Given the description of an element on the screen output the (x, y) to click on. 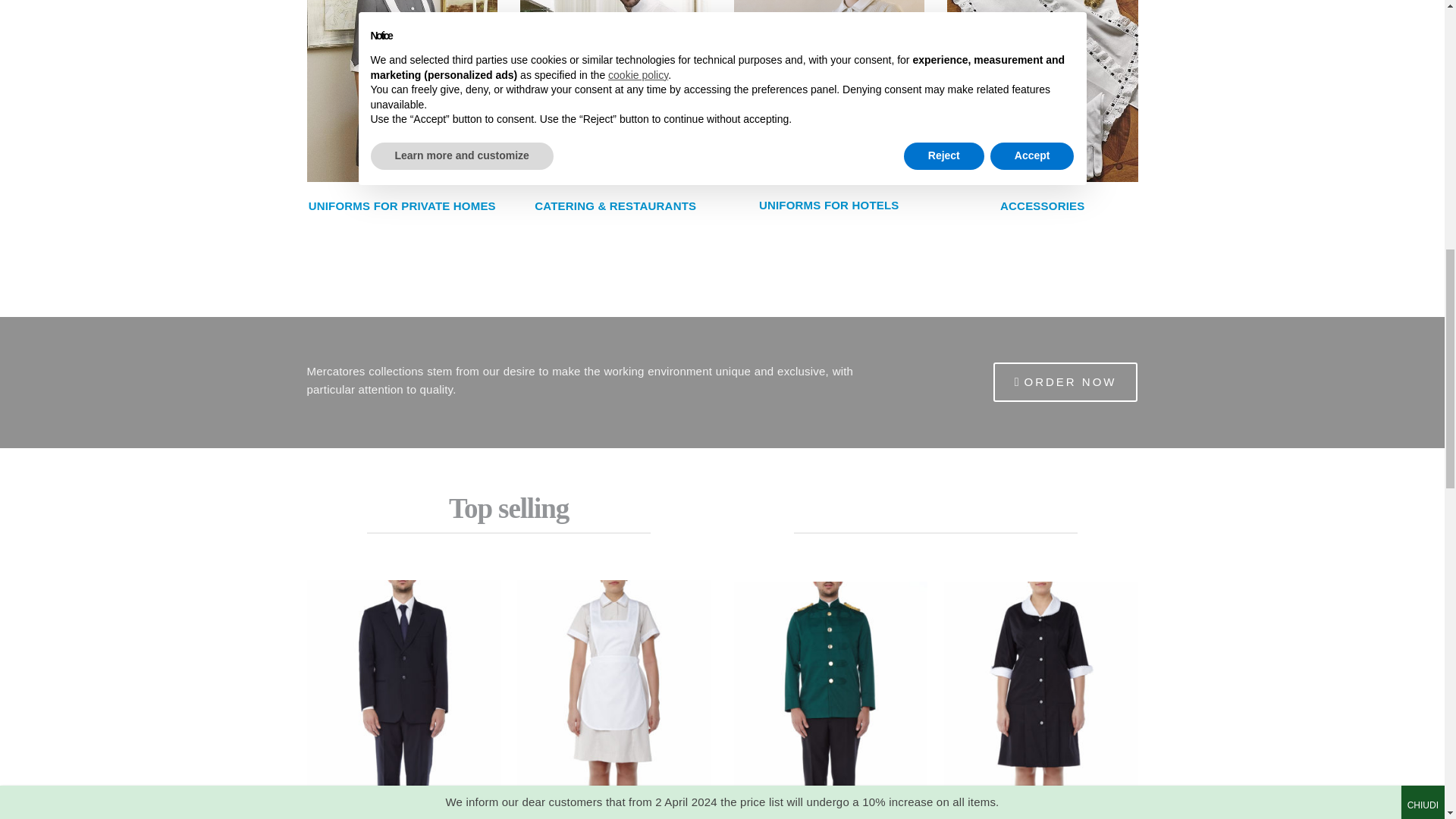
UNIFORMS FOR HOTELS (828, 205)
ORDER NOW (1065, 382)
ACCESSORIES (1042, 205)
UNIFORMS FOR PRIVATE HOMES (402, 205)
